Given the description of an element on the screen output the (x, y) to click on. 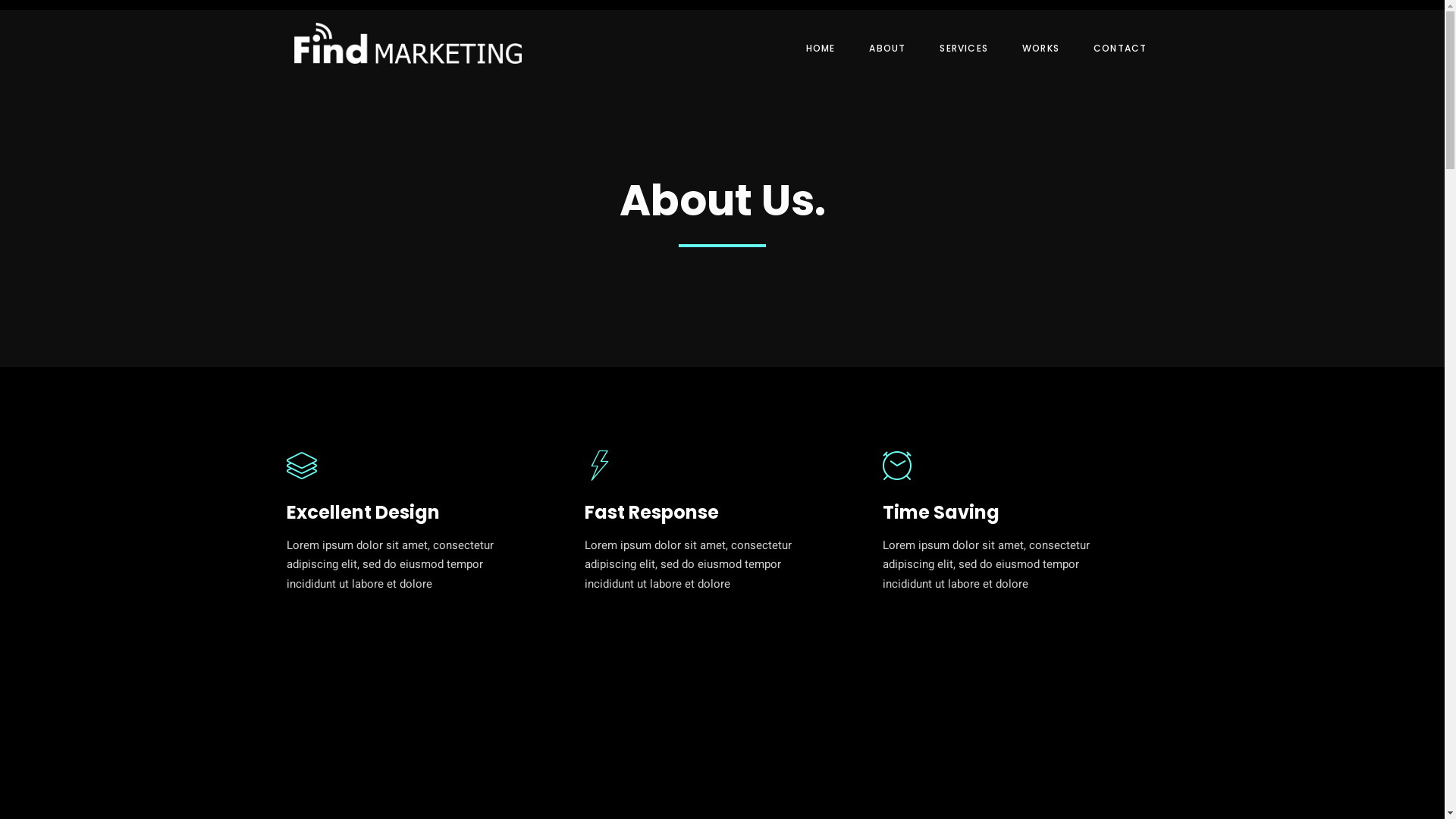
WORKS Element type: text (1034, 48)
SERVICES Element type: text (957, 48)
CONTACT Element type: text (1113, 48)
ABOUT Element type: text (881, 48)
HOME Element type: text (815, 48)
